Given the description of an element on the screen output the (x, y) to click on. 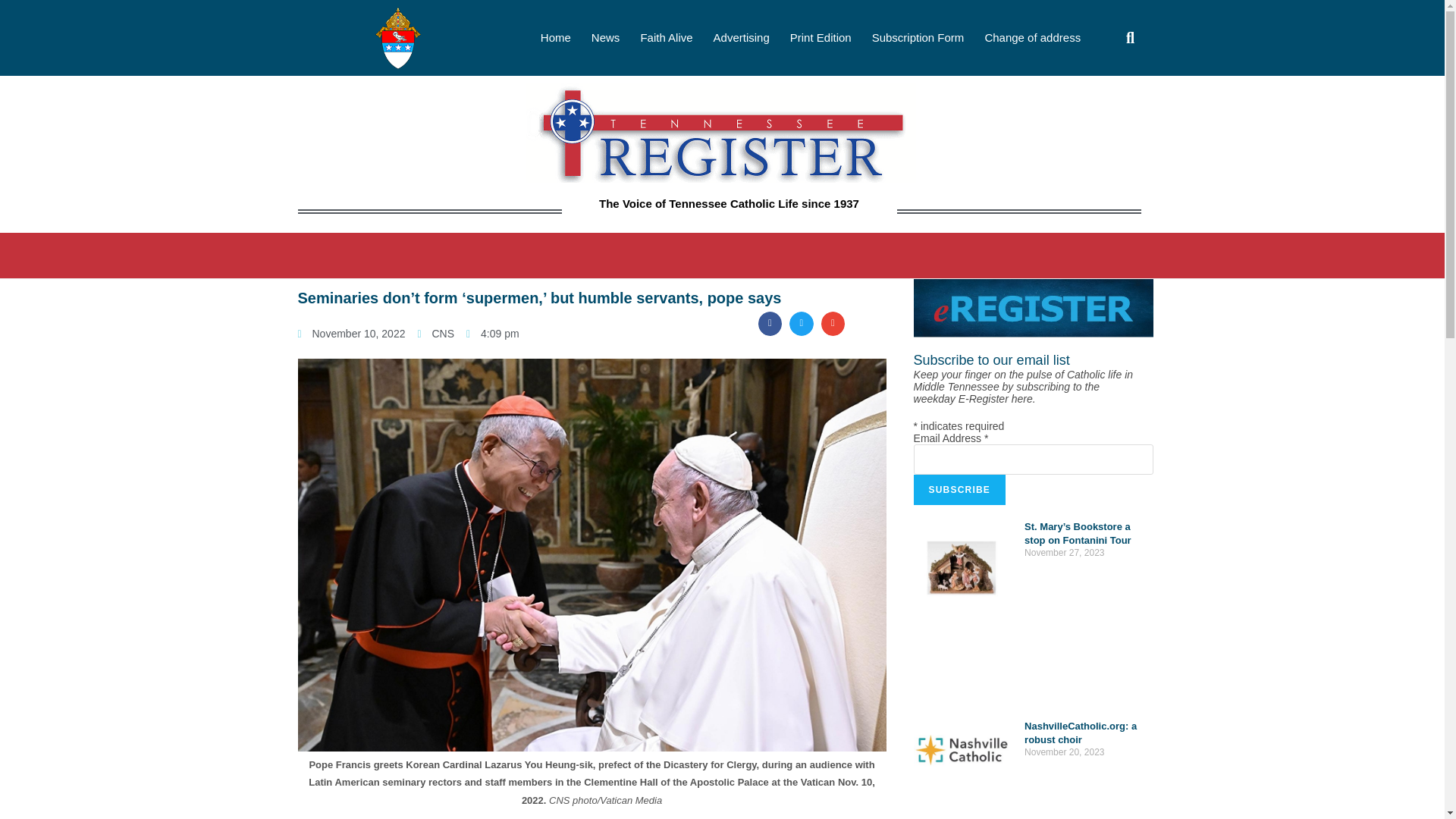
Subscribe (960, 490)
News (605, 38)
Subscription Form (917, 38)
November 10, 2022 (350, 333)
NashvilleCatholic.org: a robust choir (1081, 732)
Subscribe (960, 490)
Faith Alive (666, 38)
CNS (435, 333)
Print Edition (820, 38)
Home (555, 38)
Change of address (1032, 38)
Advertising (741, 38)
